Given the description of an element on the screen output the (x, y) to click on. 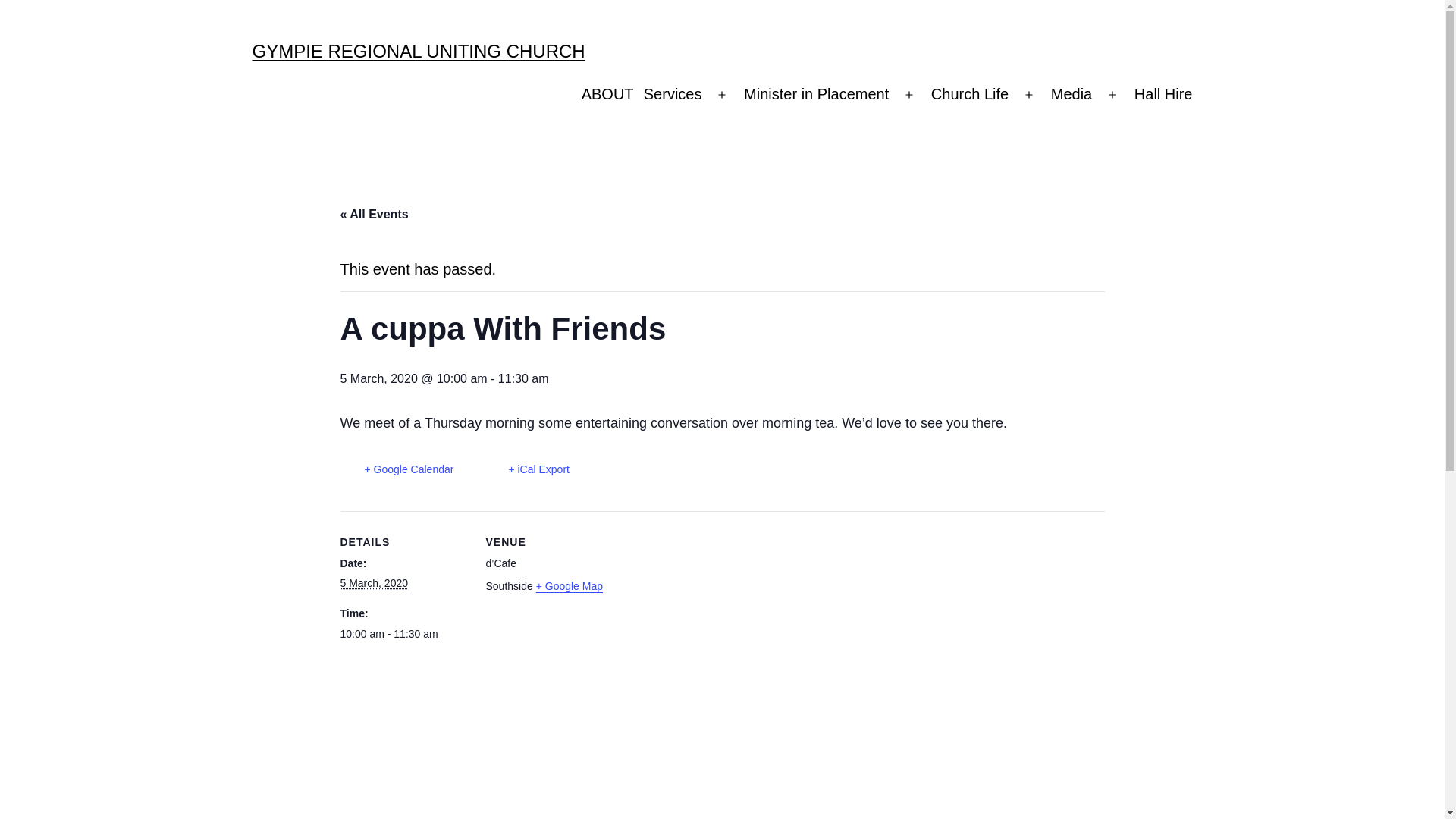
Hall Hire Element type: text (1163, 95)
Church Life Element type: text (969, 95)
+ Google Calendar Element type: text (396, 469)
Open menu Element type: text (721, 95)
GYMPIE REGIONAL UNITING CHURCH Element type: text (417, 50)
Services Element type: text (672, 95)
Minister in Placement Element type: text (815, 95)
Open menu Element type: text (1028, 95)
Open menu Element type: text (1112, 95)
Open menu Element type: text (908, 95)
+ iCal Export Element type: text (526, 469)
Media Element type: text (1071, 95)
+ Google Map Element type: text (569, 586)
ABOUT Element type: text (607, 95)
